Given the description of an element on the screen output the (x, y) to click on. 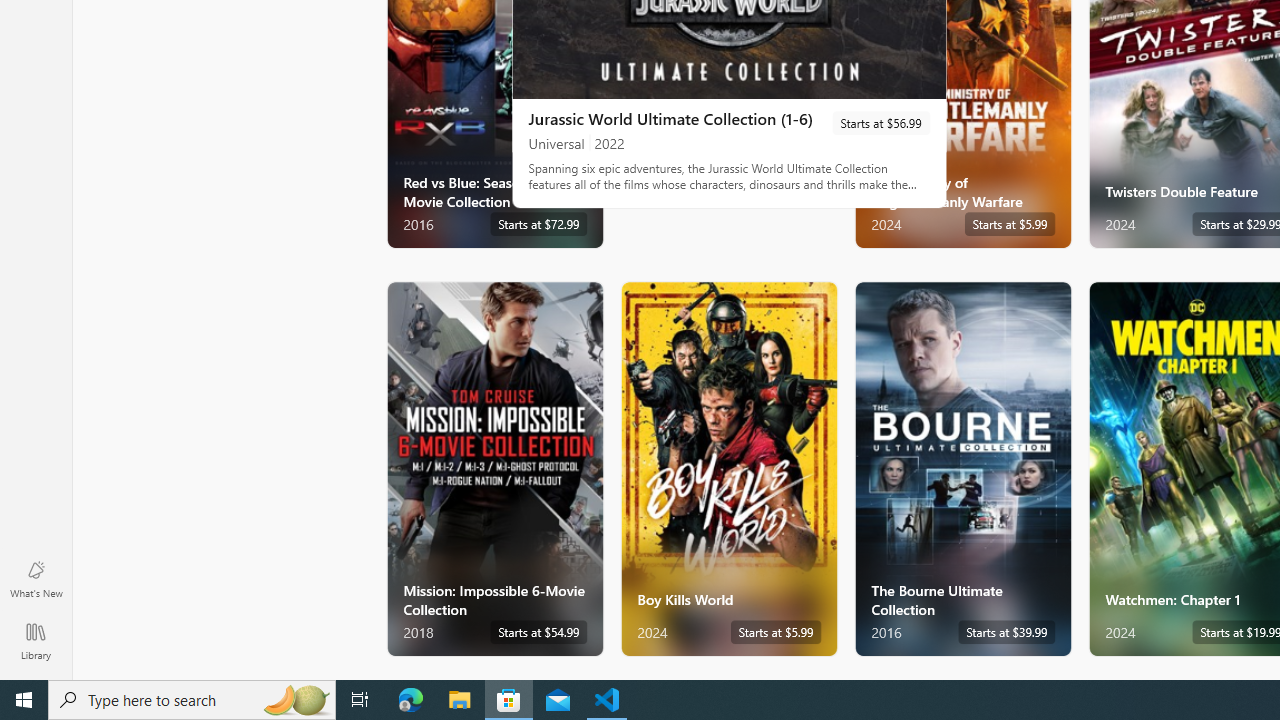
Boy Kills World. Starts at $5.99   (728, 468)
What's New (35, 578)
Library (35, 640)
